Given the description of an element on the screen output the (x, y) to click on. 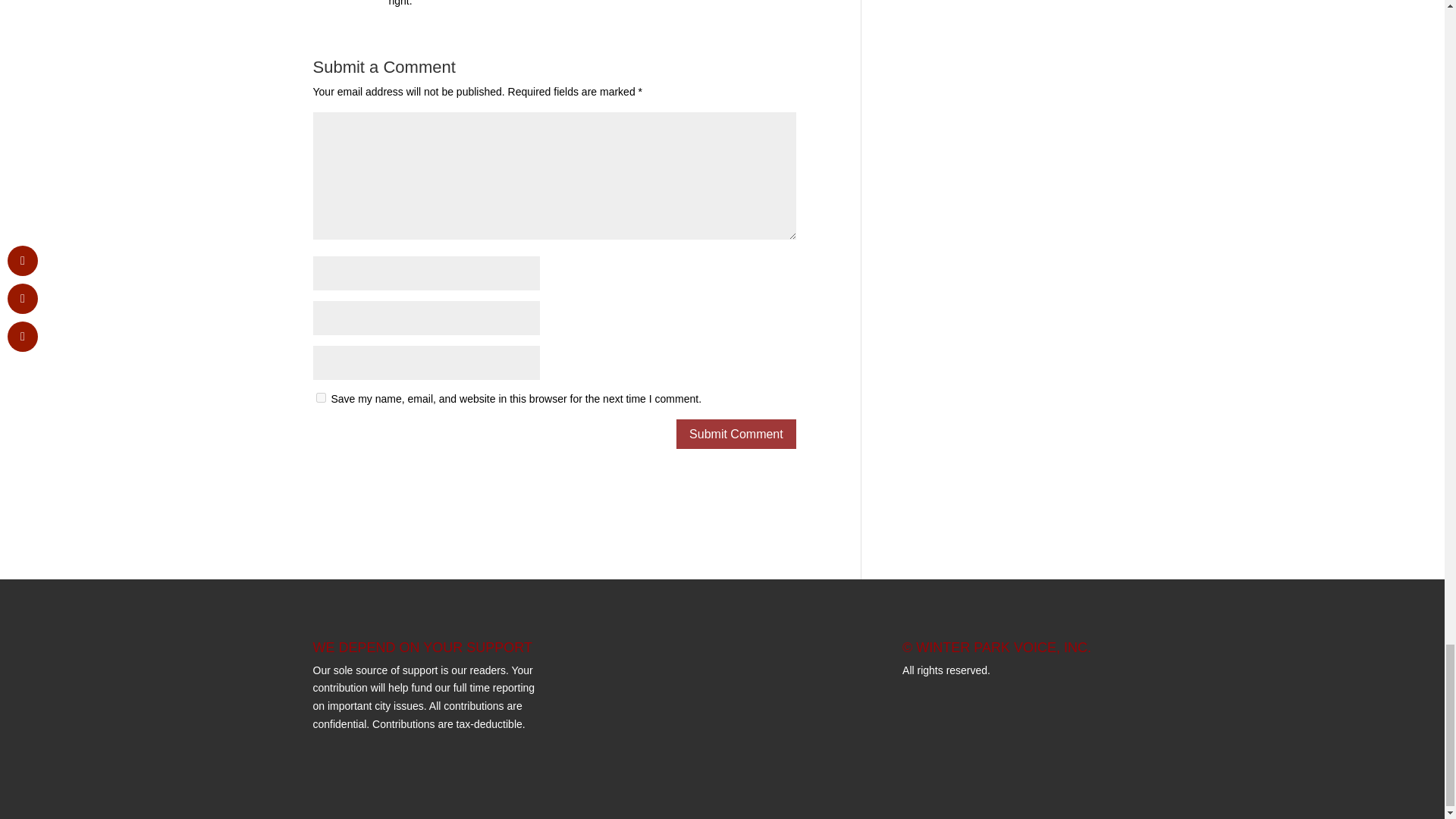
Submit Comment (736, 433)
yes (319, 397)
Submit Comment (736, 433)
